Given the description of an element on the screen output the (x, y) to click on. 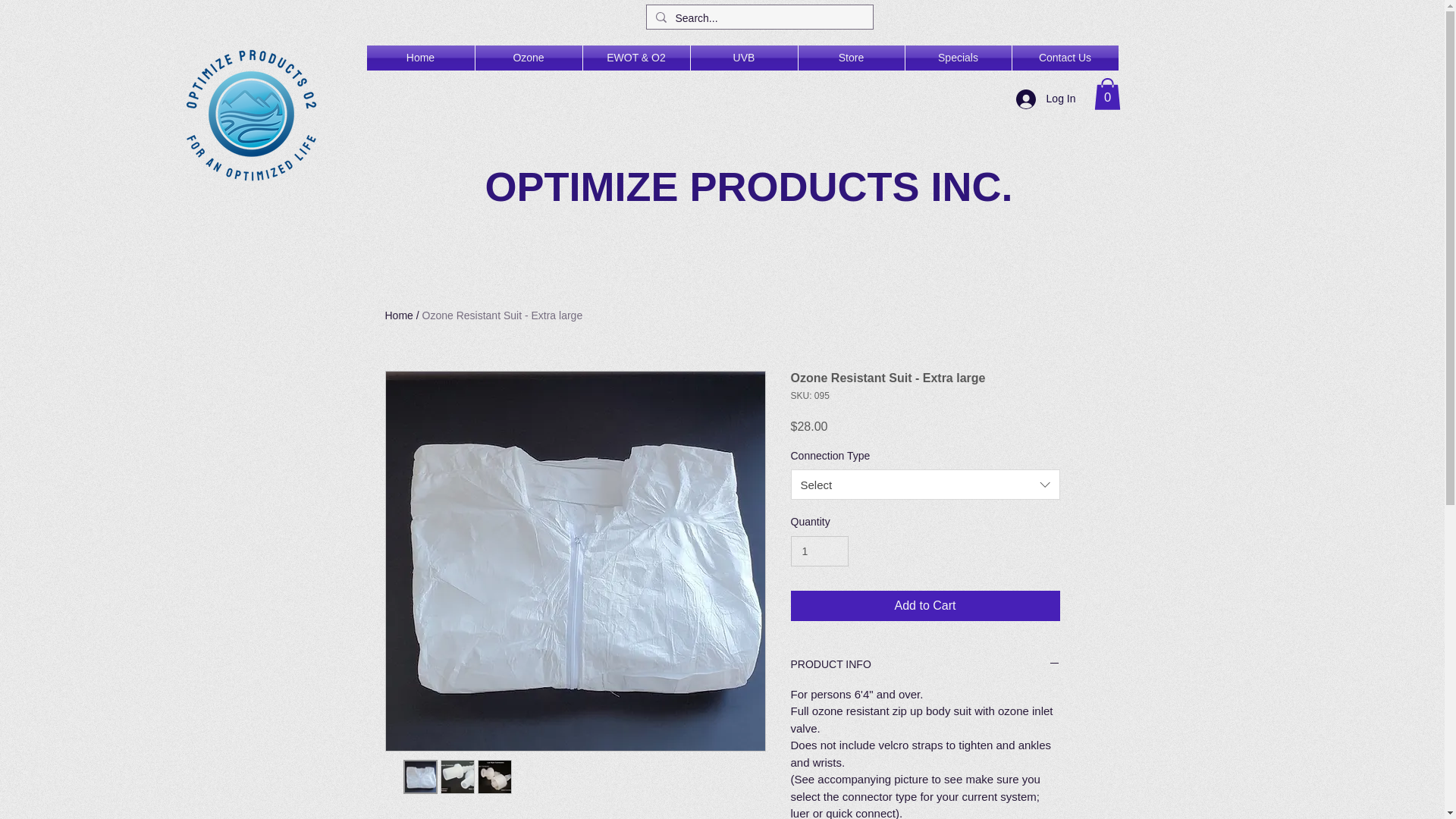
Store (850, 57)
Ozone (527, 57)
Ozone Resistant Suit - Extra large (502, 315)
OPTIMIZE PRODUCTS INC. (747, 186)
Home (399, 315)
Add to Cart (924, 605)
Log In (1046, 99)
1 (818, 551)
Home (420, 57)
Contact Us (1064, 57)
PRODUCT INFO (924, 665)
Specials (958, 57)
Select (924, 484)
UVB (743, 57)
